Given the description of an element on the screen output the (x, y) to click on. 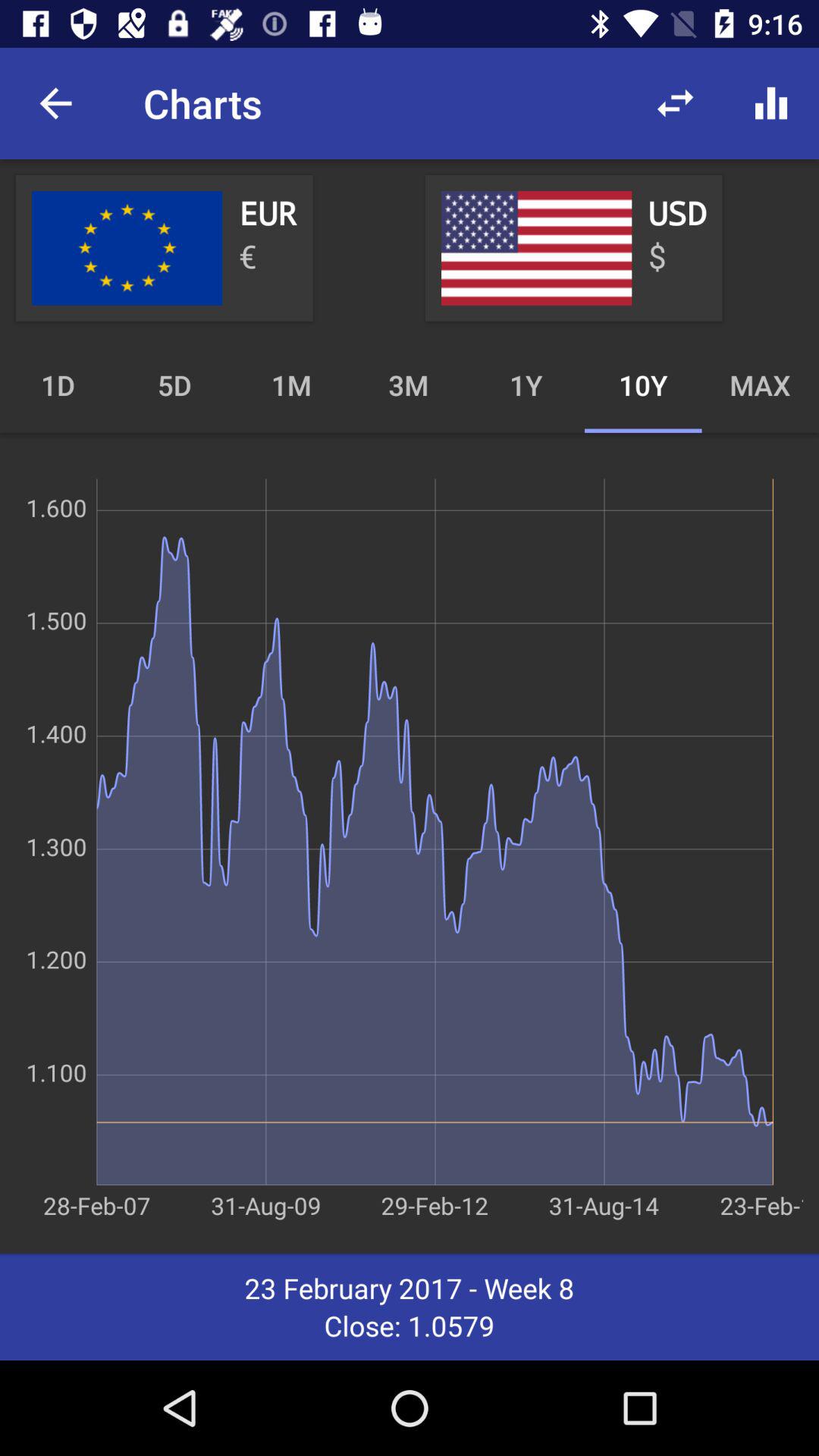
choose the item to the left of the charts item (55, 103)
